Given the description of an element on the screen output the (x, y) to click on. 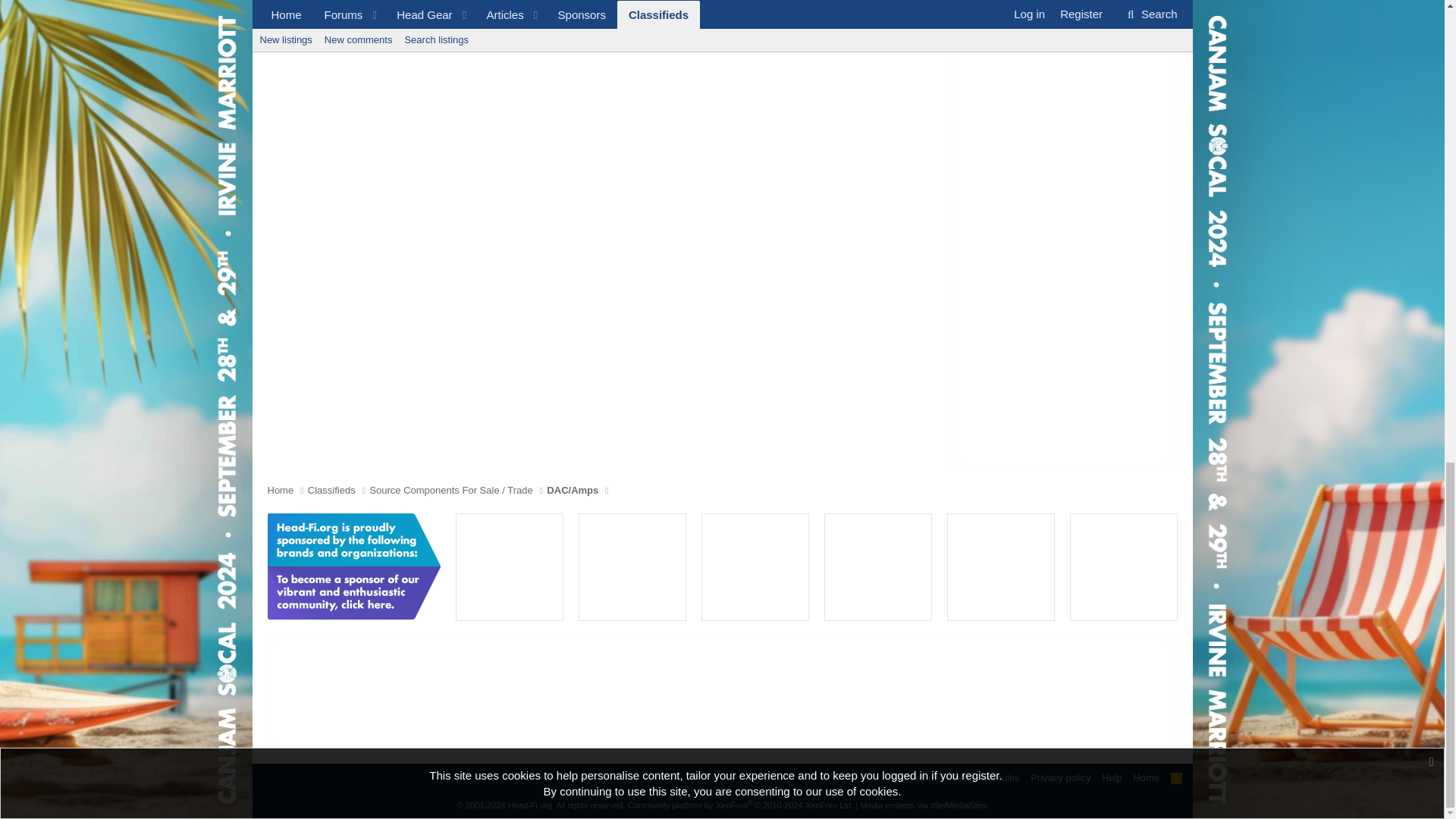
3rd party ad content (509, 566)
3rd party ad content (632, 566)
3rd party ad content (754, 566)
3rd party ad content (878, 566)
